Given the description of an element on the screen output the (x, y) to click on. 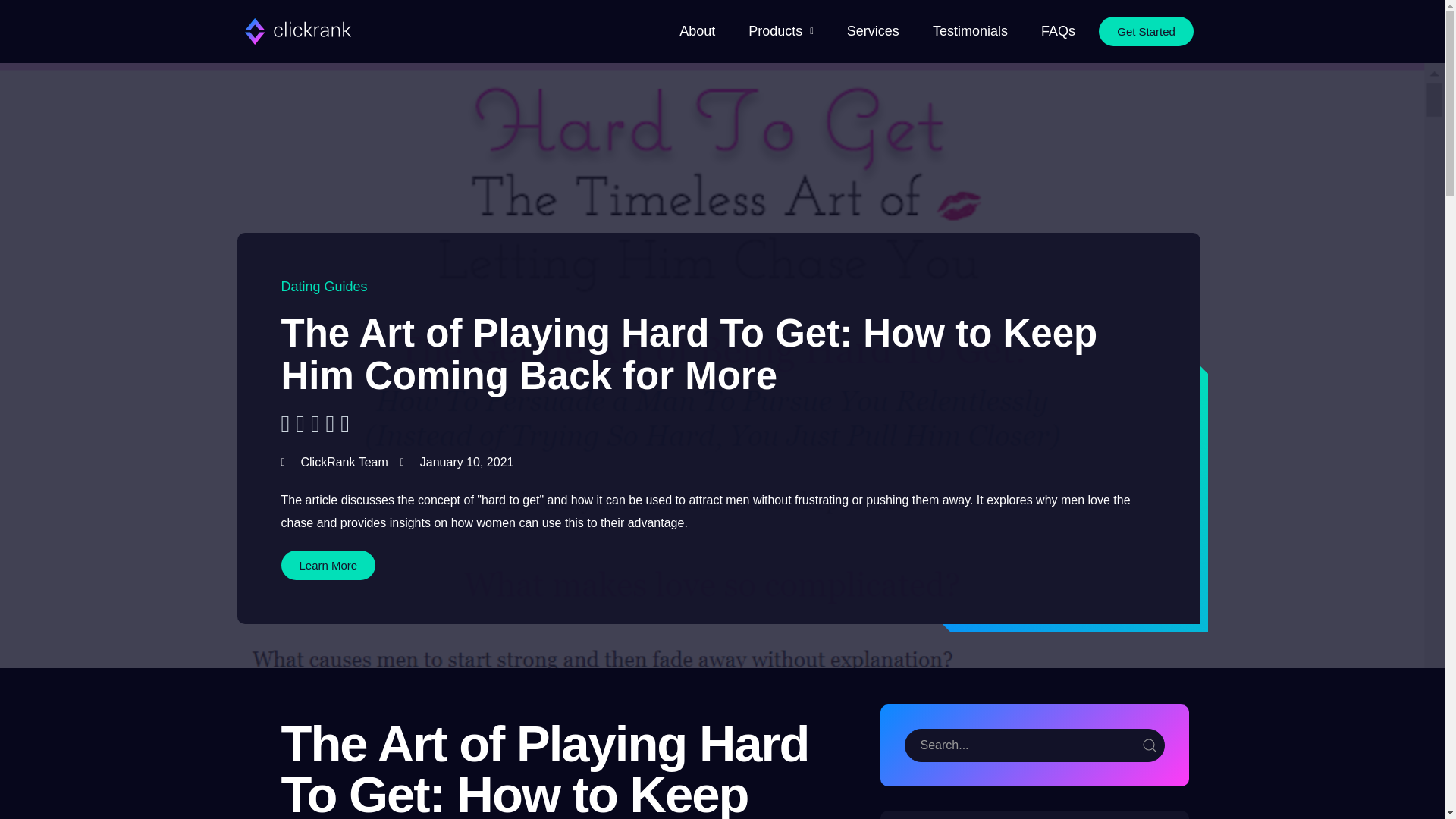
About (696, 31)
Services (873, 31)
Search (1033, 745)
FAQs (1058, 31)
Products (781, 31)
Testimonials (969, 31)
